Given the description of an element on the screen output the (x, y) to click on. 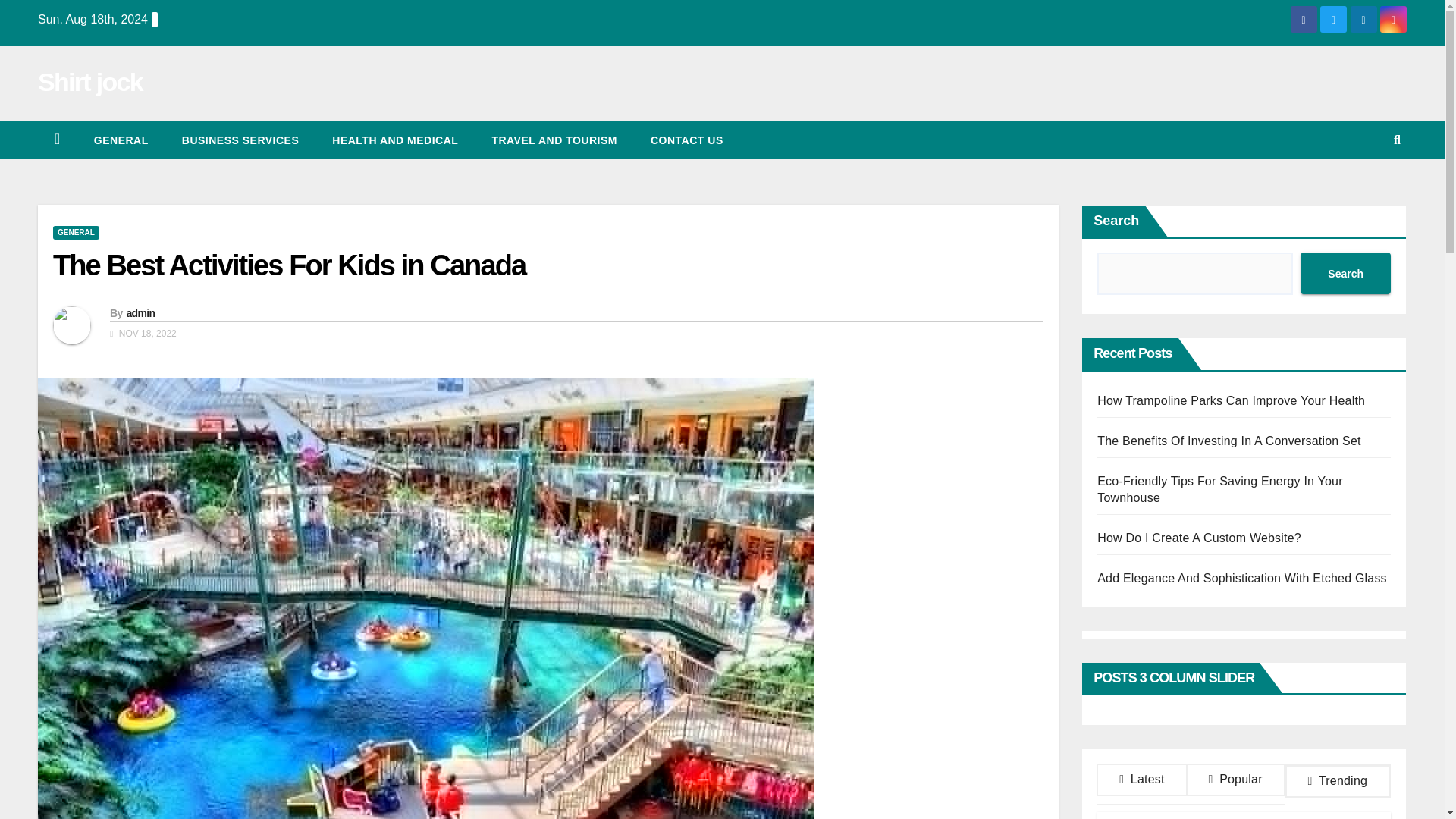
GENERAL (121, 139)
Permalink to: The Best Activities For Kids in Canada (288, 265)
Contact us (686, 139)
GENERAL (75, 232)
Shirt jock (89, 81)
Business Services (240, 139)
BUSINESS SERVICES (240, 139)
HEALTH AND MEDICAL (394, 139)
The Best Activities For Kids in Canada (288, 265)
Travel and Tourism (553, 139)
